Given the description of an element on the screen output the (x, y) to click on. 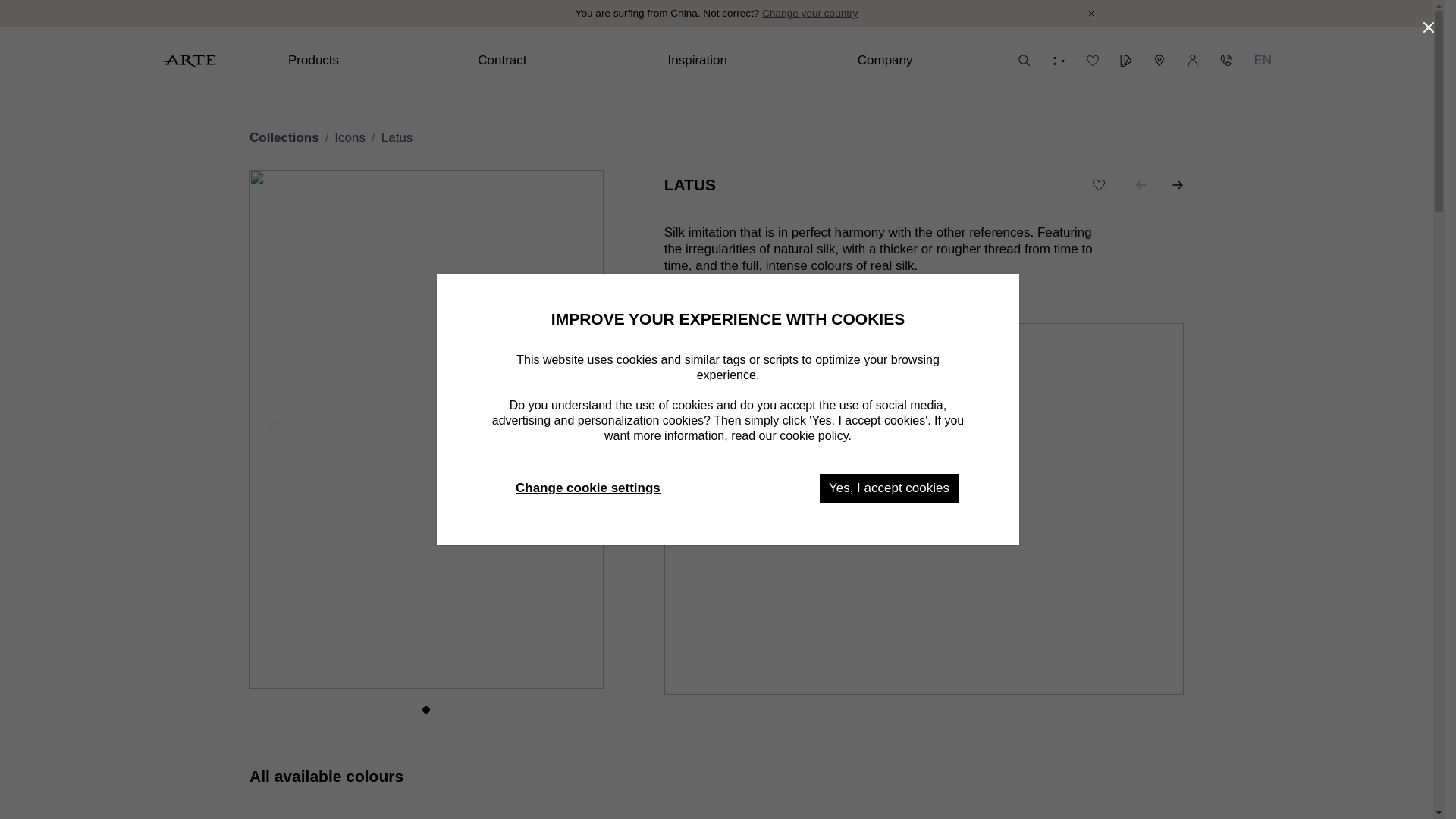
Change your country (809, 13)
Go to home (186, 60)
EN (1262, 60)
Inspiration (749, 60)
Next Pattern (1176, 184)
Previous Pattern (1140, 184)
Contract (560, 60)
Company (940, 60)
Close (1091, 13)
Products (370, 60)
